Given the description of an element on the screen output the (x, y) to click on. 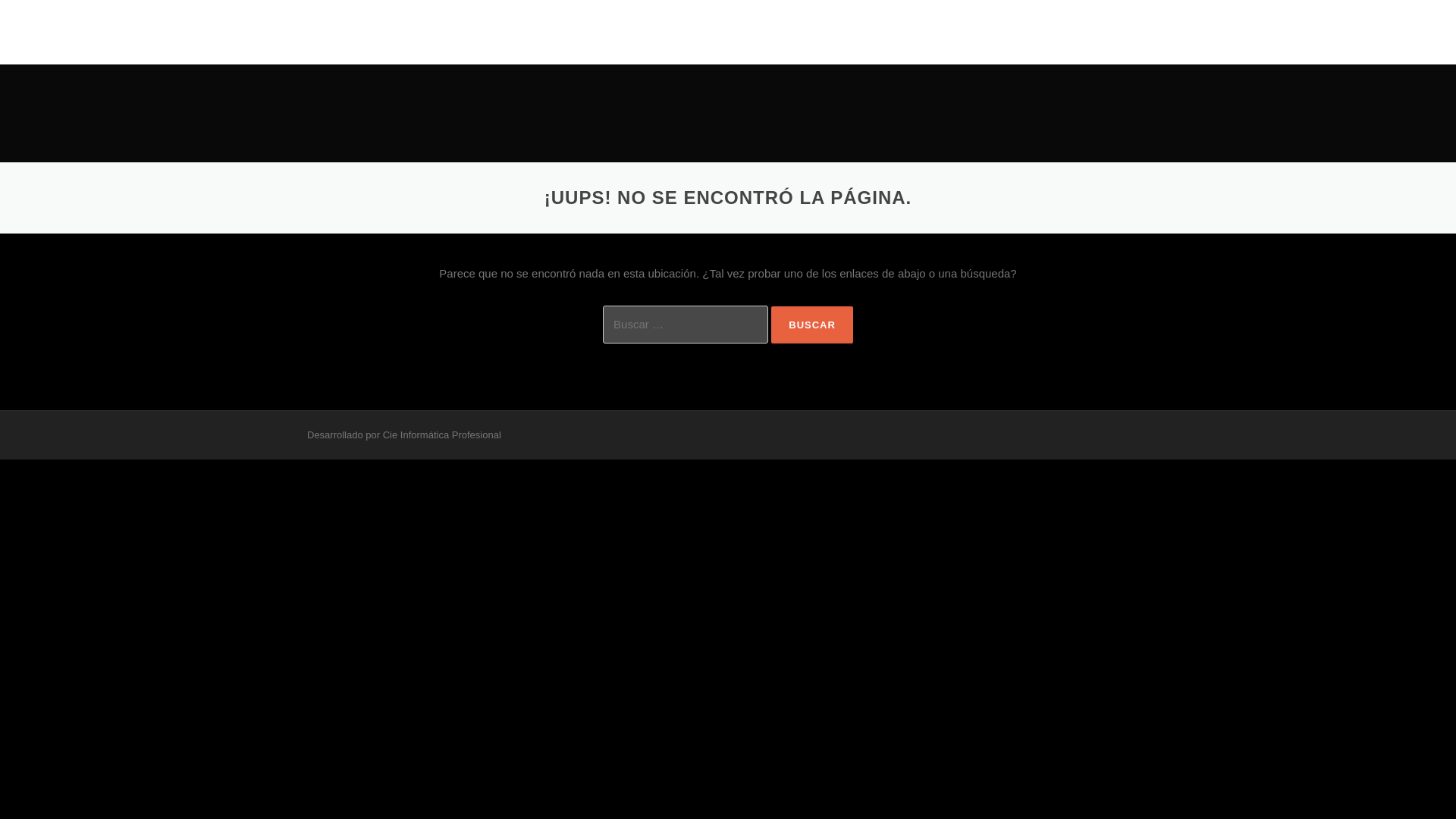
Buscar (812, 324)
Screenr parallax theme (358, 434)
Saltar al contenido (775, 9)
Buscar (812, 324)
Buscar (812, 324)
